Given the description of an element on the screen output the (x, y) to click on. 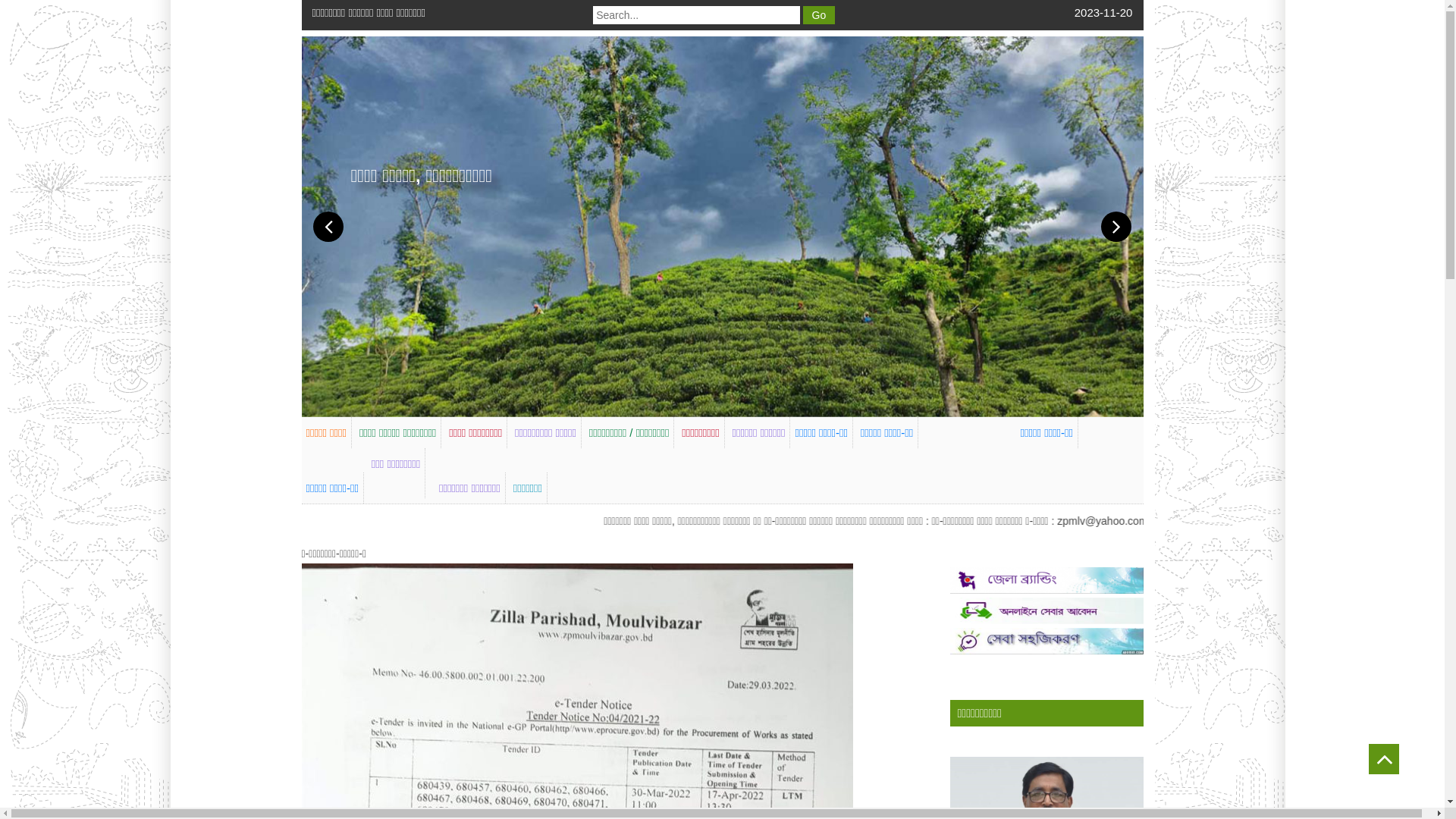
Go Element type: text (819, 15)
